Given the description of an element on the screen output the (x, y) to click on. 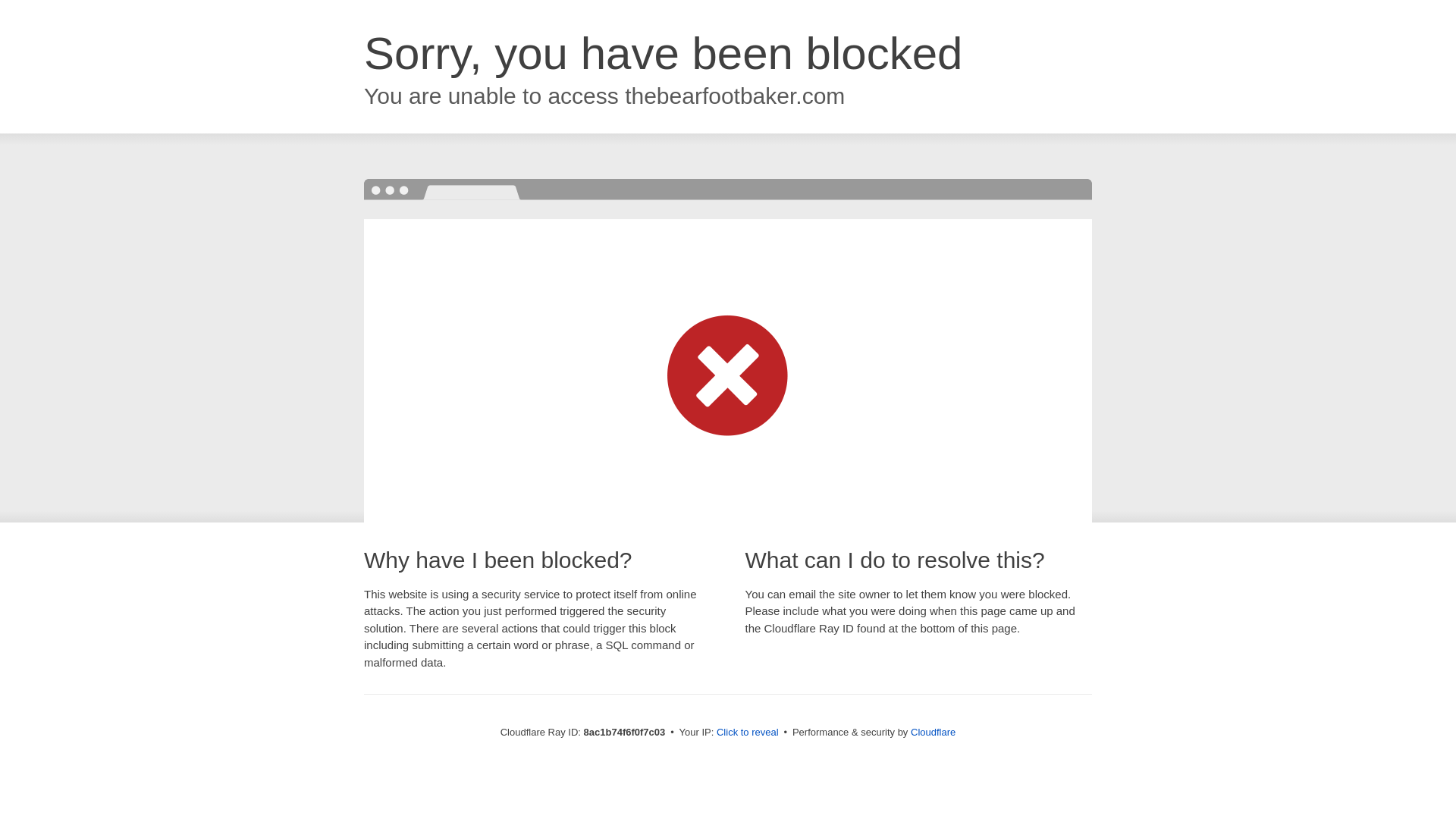
Cloudflare (933, 731)
Click to reveal (747, 732)
